Given the description of an element on the screen output the (x, y) to click on. 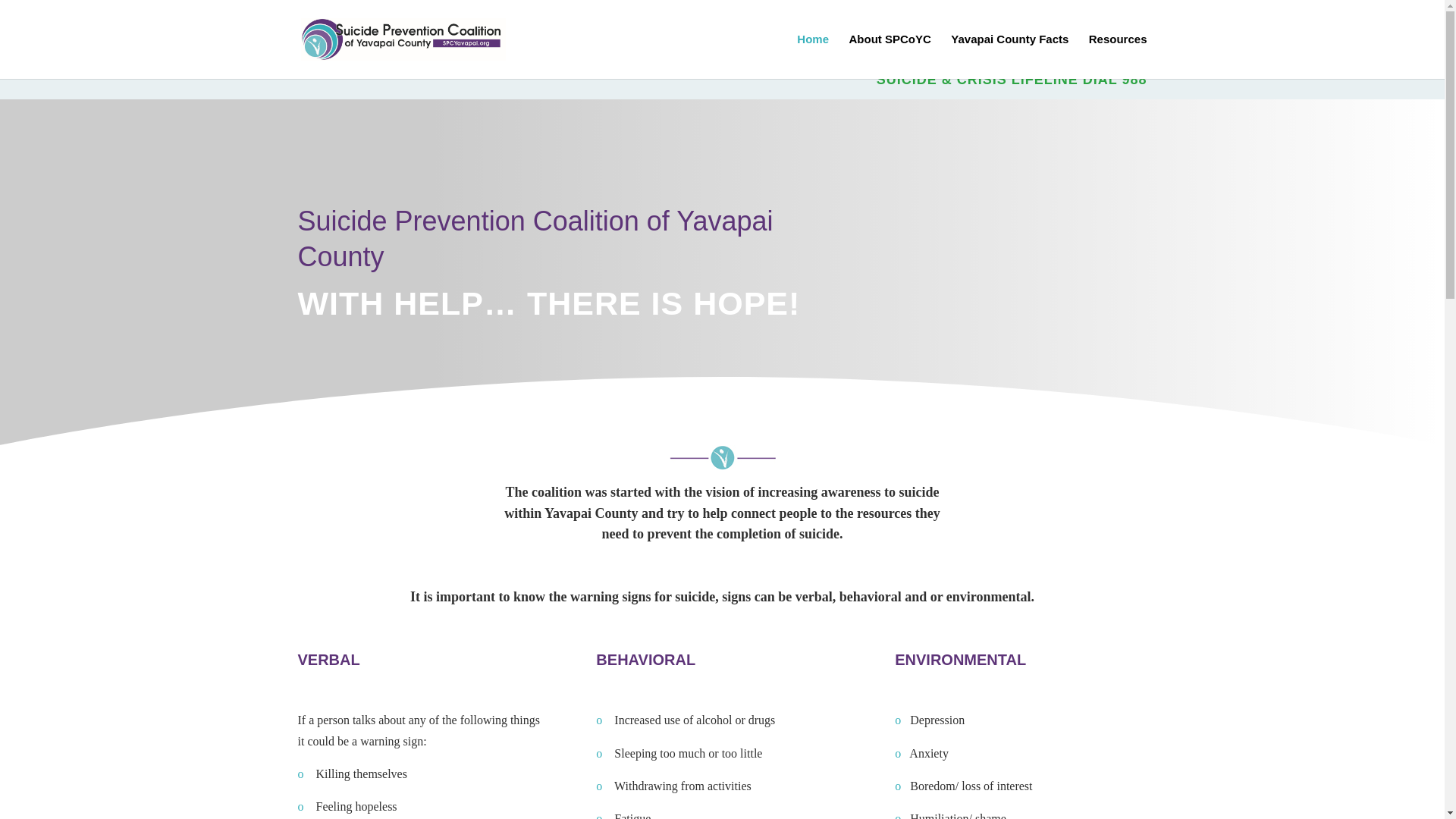
divider2 (721, 457)
Resources (1118, 56)
Yavapai County Facts (1009, 56)
About SPCoYC (889, 56)
